Given the description of an element on the screen output the (x, y) to click on. 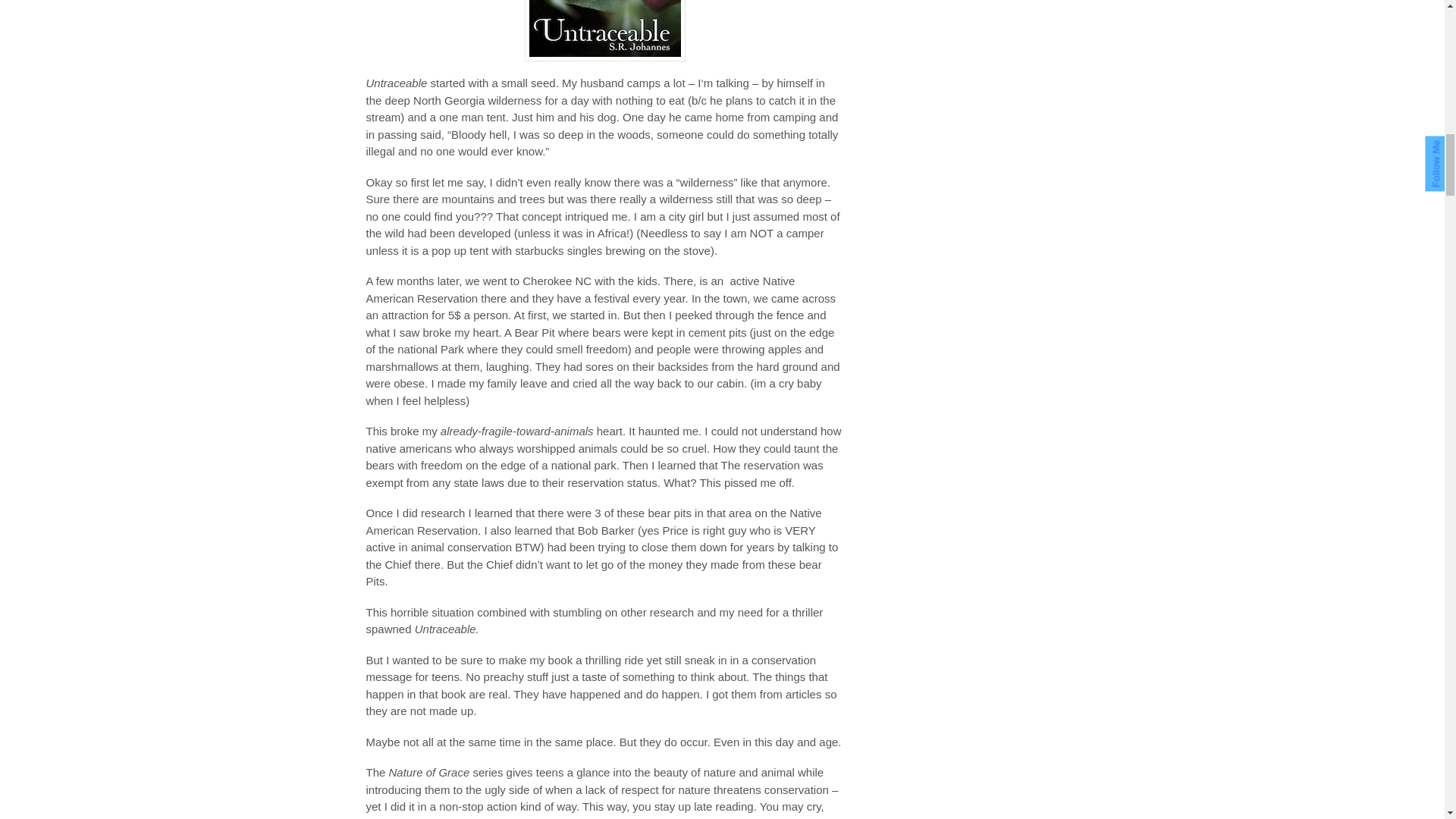
Untraceable Cover Quote small (604, 30)
